Given the description of an element on the screen output the (x, y) to click on. 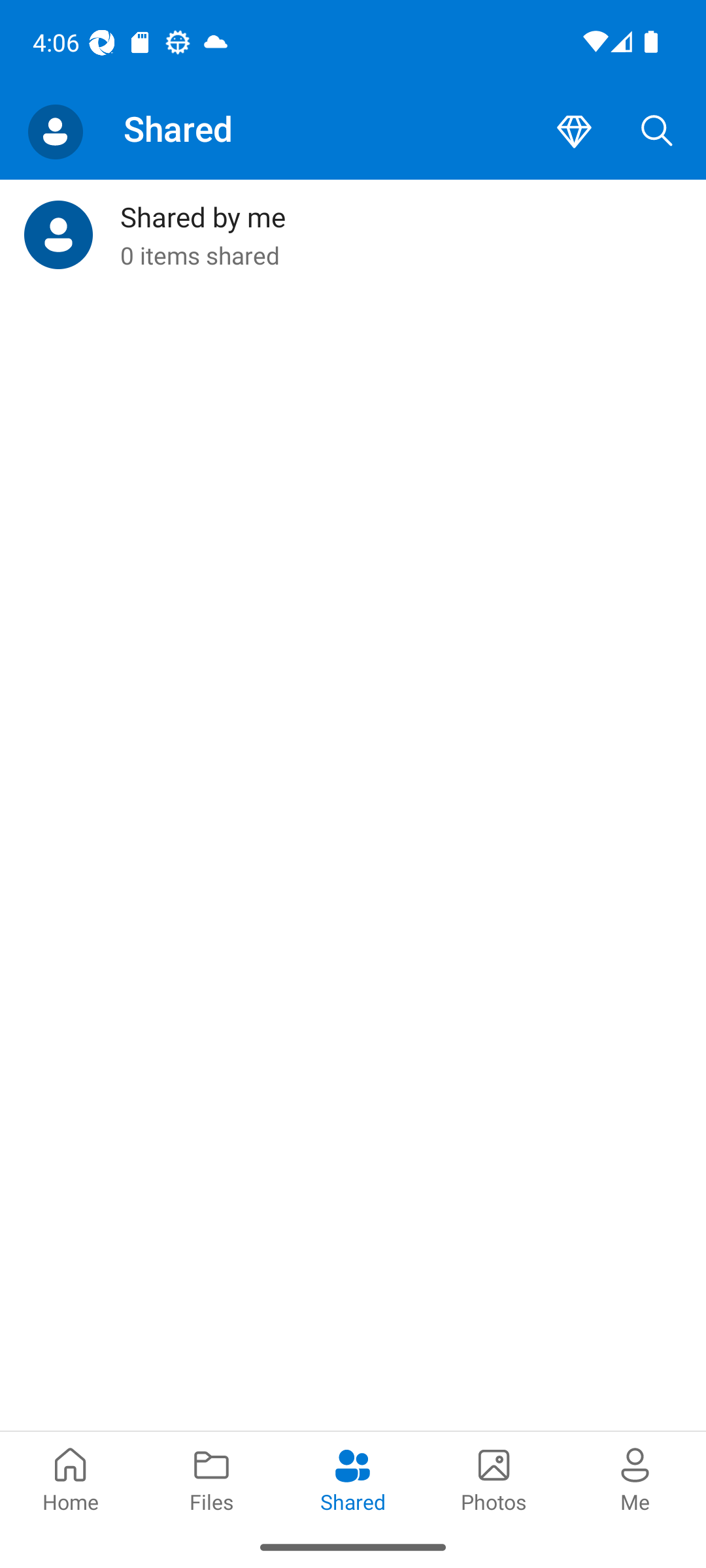
Account switcher (55, 131)
Premium button (574, 131)
Search button (656, 131)
0 Shared by me 0 items shared (353, 235)
Home pivot Home (70, 1478)
Files pivot Files (211, 1478)
Photos pivot Photos (493, 1478)
Me pivot Me (635, 1478)
